Given the description of an element on the screen output the (x, y) to click on. 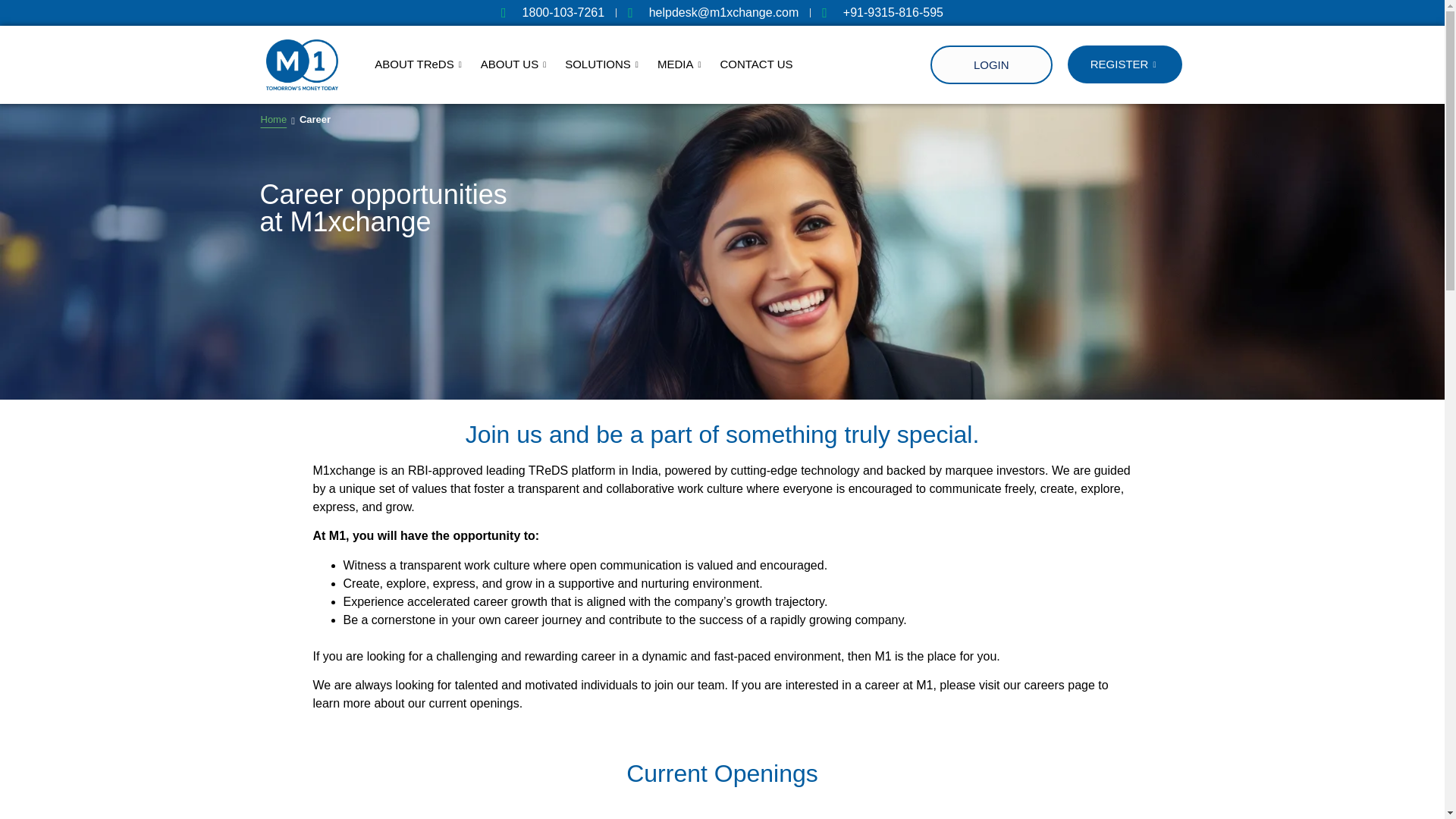
SOLUTIONS (603, 63)
Career (314, 119)
Home (272, 119)
1800-103-7261 (419, 63)
ABOUT US (552, 13)
